Given the description of an element on the screen output the (x, y) to click on. 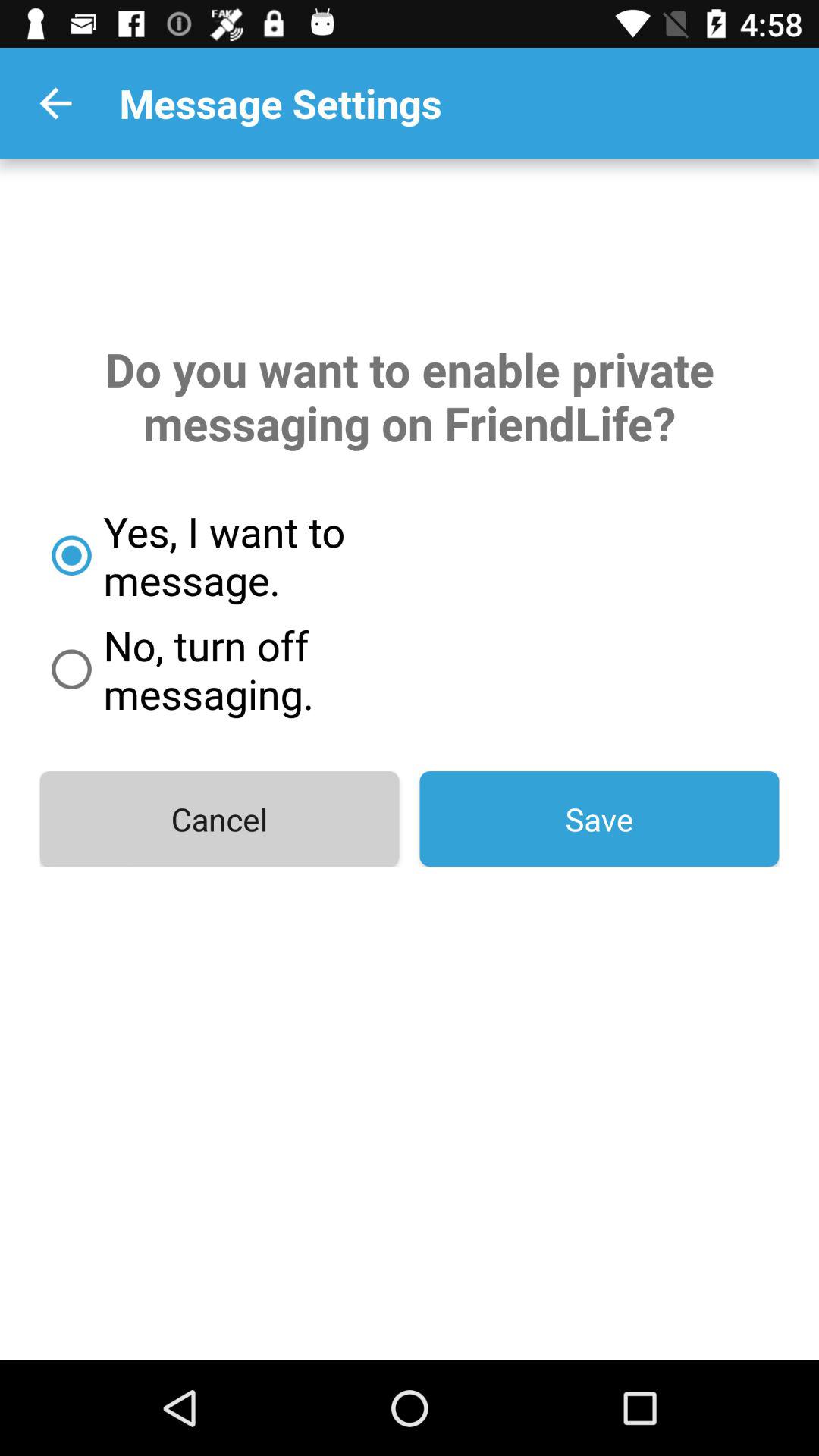
turn off item to the right of the cancel (599, 818)
